Given the description of an element on the screen output the (x, y) to click on. 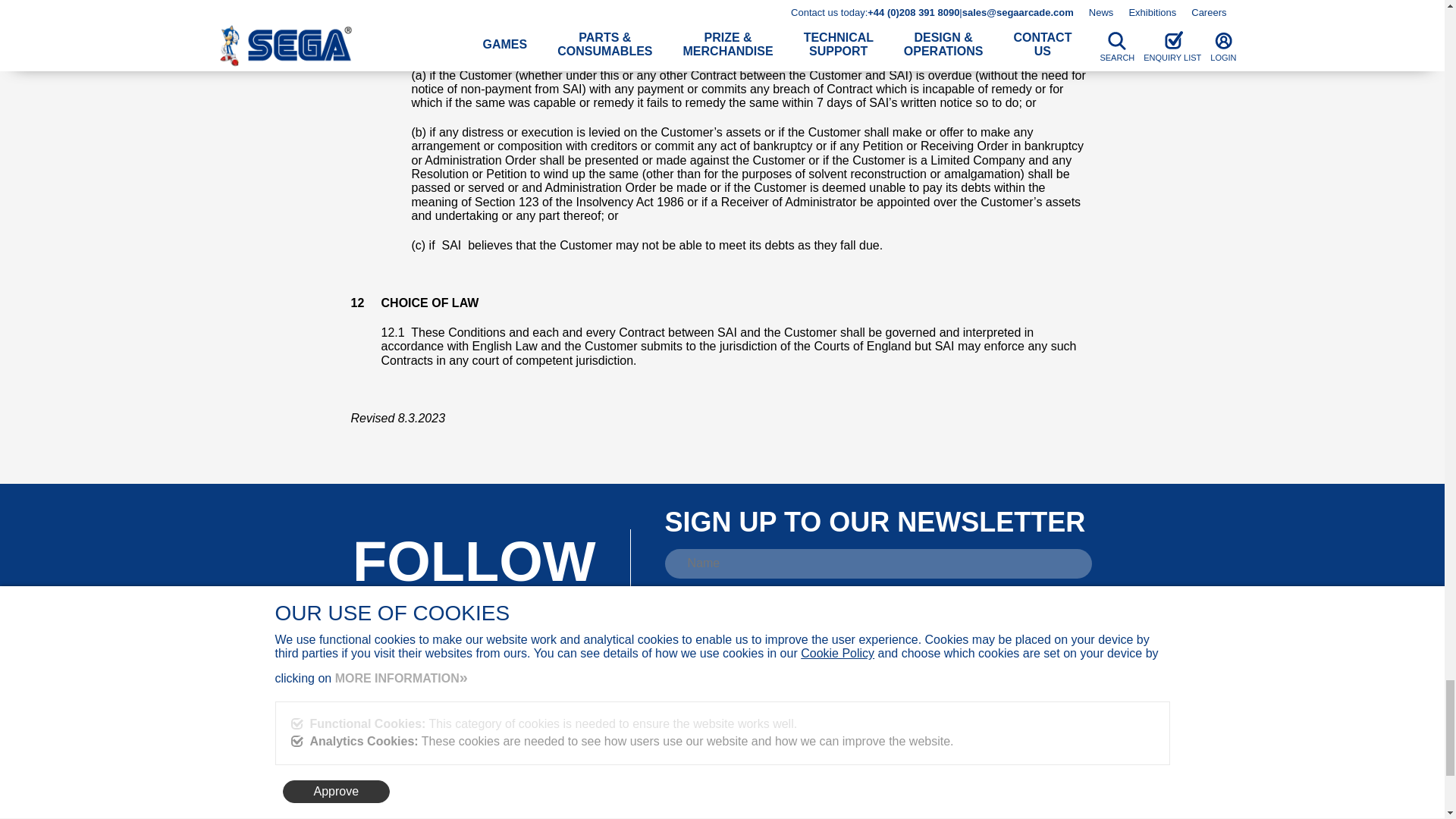
SIGN UP (772, 644)
Contact Us (449, 818)
Games (442, 770)
Technical Support (463, 802)
Prize and Merchandise (474, 792)
